Given the description of an element on the screen output the (x, y) to click on. 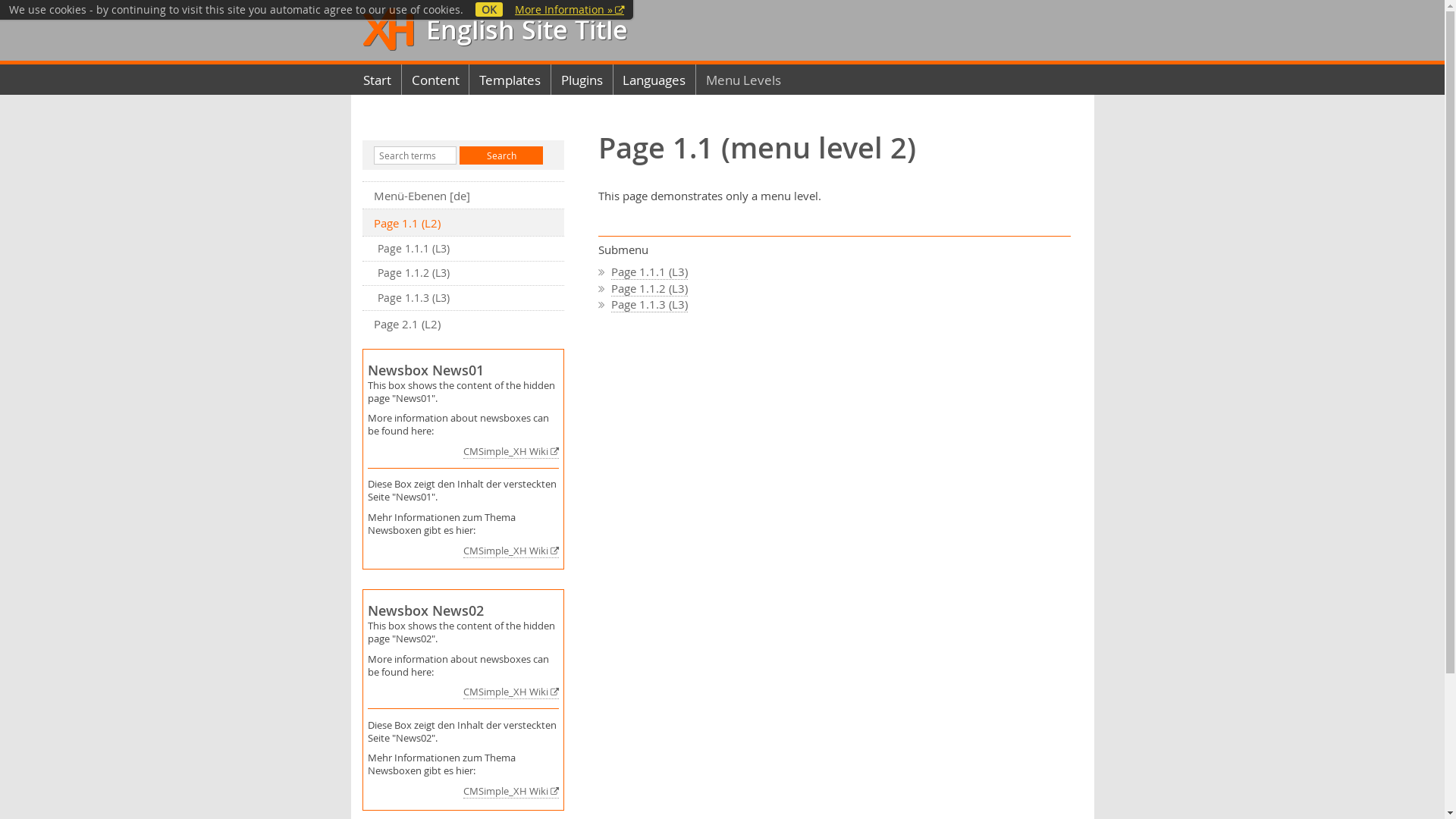
Page 1.1.2 (L3) Element type: text (649, 288)
Search terms Element type: hover (414, 154)
Page 1.1.1 (L3) Element type: text (463, 248)
  Element type: text (390, 30)
CMSimple_XH Wiki Element type: text (510, 451)
CMSimple_XH Wiki Element type: text (510, 551)
Page 2.1 (L2) Element type: text (463, 323)
Templates Element type: text (509, 79)
Page 1.1.3 (L3) Element type: text (649, 304)
CMSimple_XH Wiki Element type: text (510, 791)
Menu Levels Element type: text (743, 79)
Search Element type: text (500, 154)
Page 1.1.2 (L3) Element type: text (463, 272)
Plugins Element type: text (581, 79)
Content Element type: text (435, 79)
Page 1.1.1 (L3) Element type: text (649, 271)
 English Site Title Element type: text (522, 29)
Page 1.1.3 (L3) Element type: text (463, 297)
CMSimple_XH Wiki Element type: text (510, 692)
Start Element type: text (377, 79)
Languages Element type: text (654, 79)
